Given the description of an element on the screen output the (x, y) to click on. 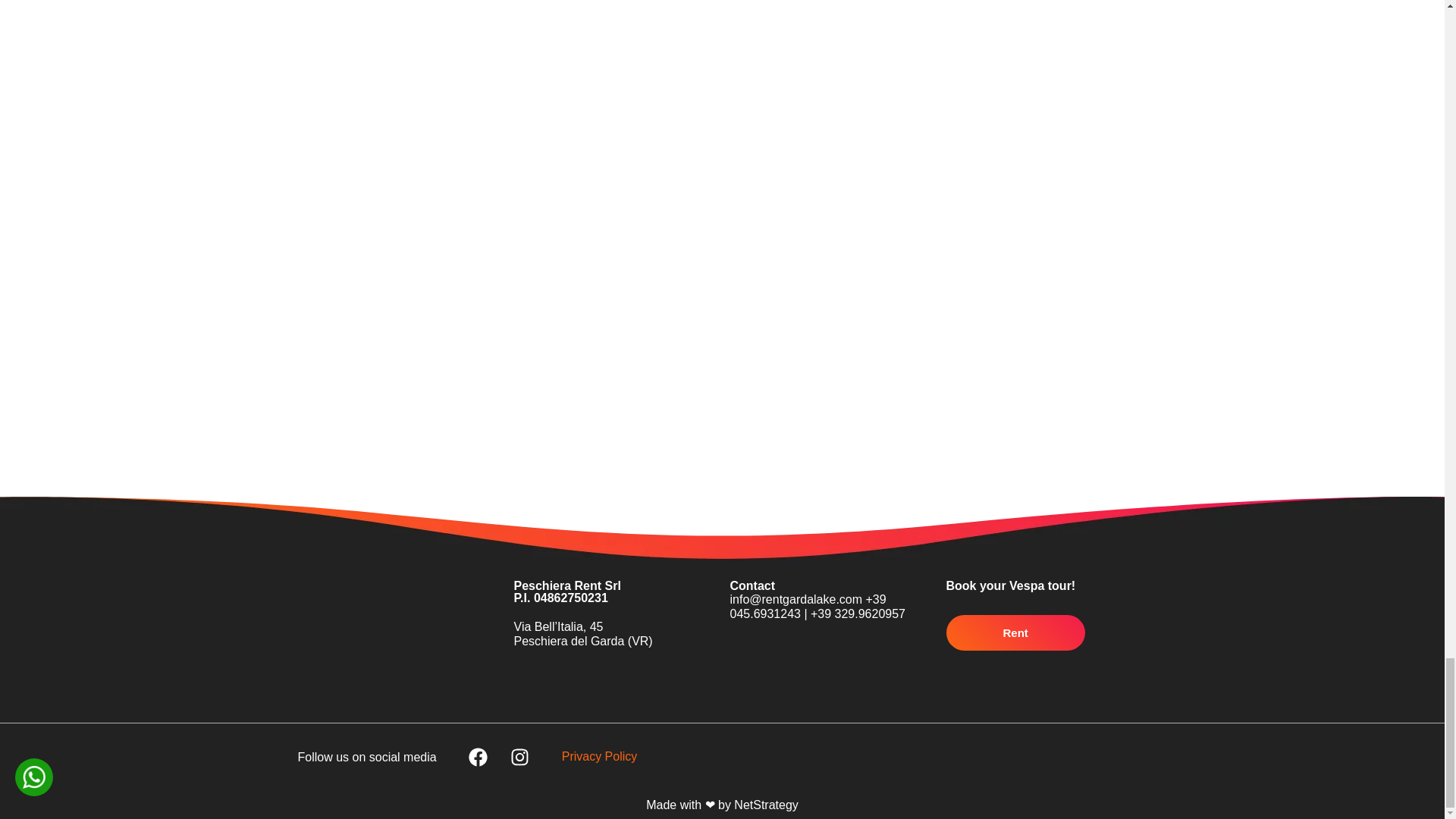
Privacy Policy  (599, 756)
